Given the description of an element on the screen output the (x, y) to click on. 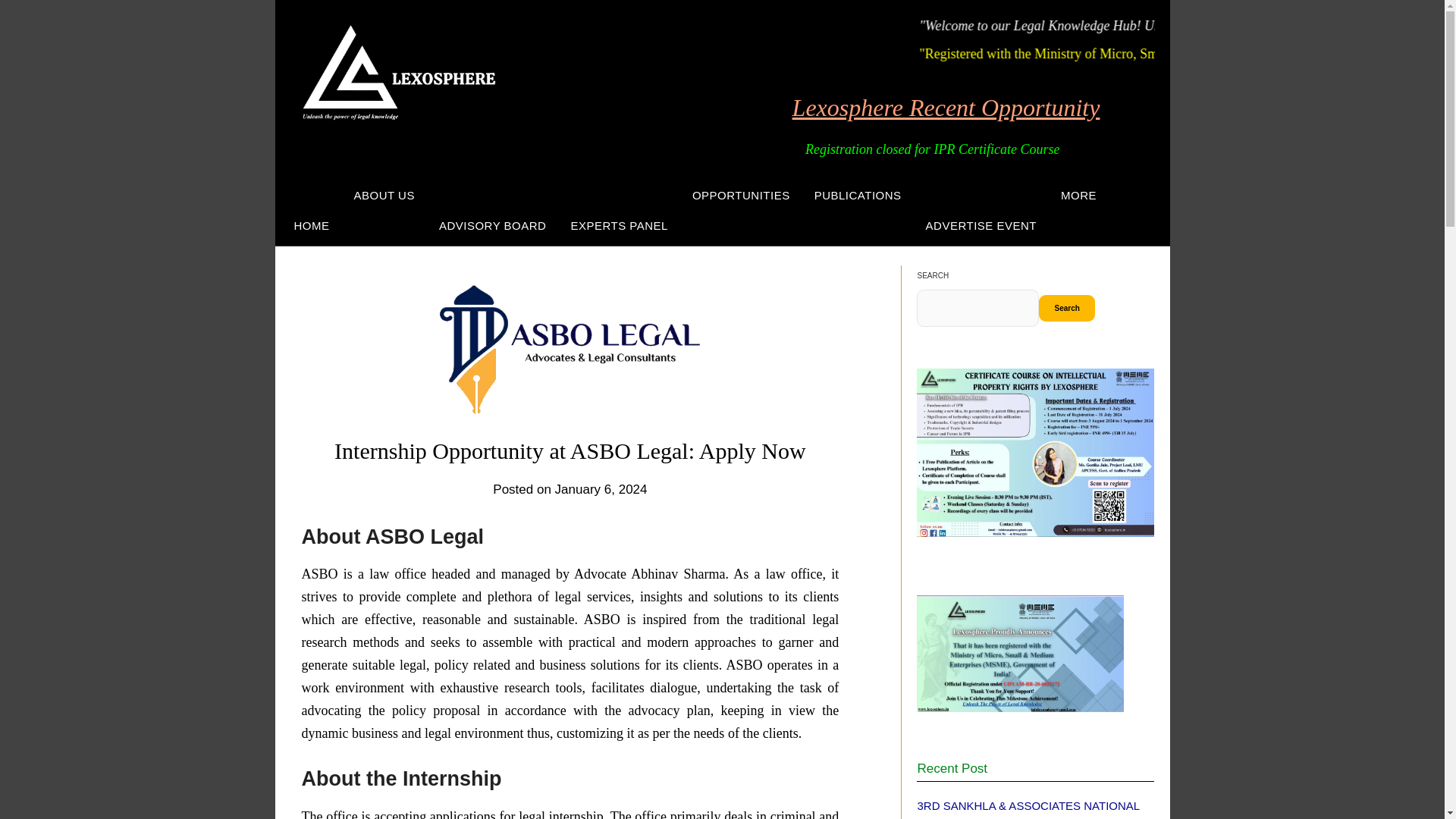
EXPERTS PANEL (618, 226)
January 6, 2024 (600, 489)
Registration closed for IPR Certificate Course (863, 149)
Search (1066, 307)
OPPORTUNITIES (740, 196)
PUBLICATIONS (858, 196)
ADVERTISE EVENT (981, 226)
MORE (1078, 196)
ABOUT US (383, 196)
HOME (307, 226)
